Given the description of an element on the screen output the (x, y) to click on. 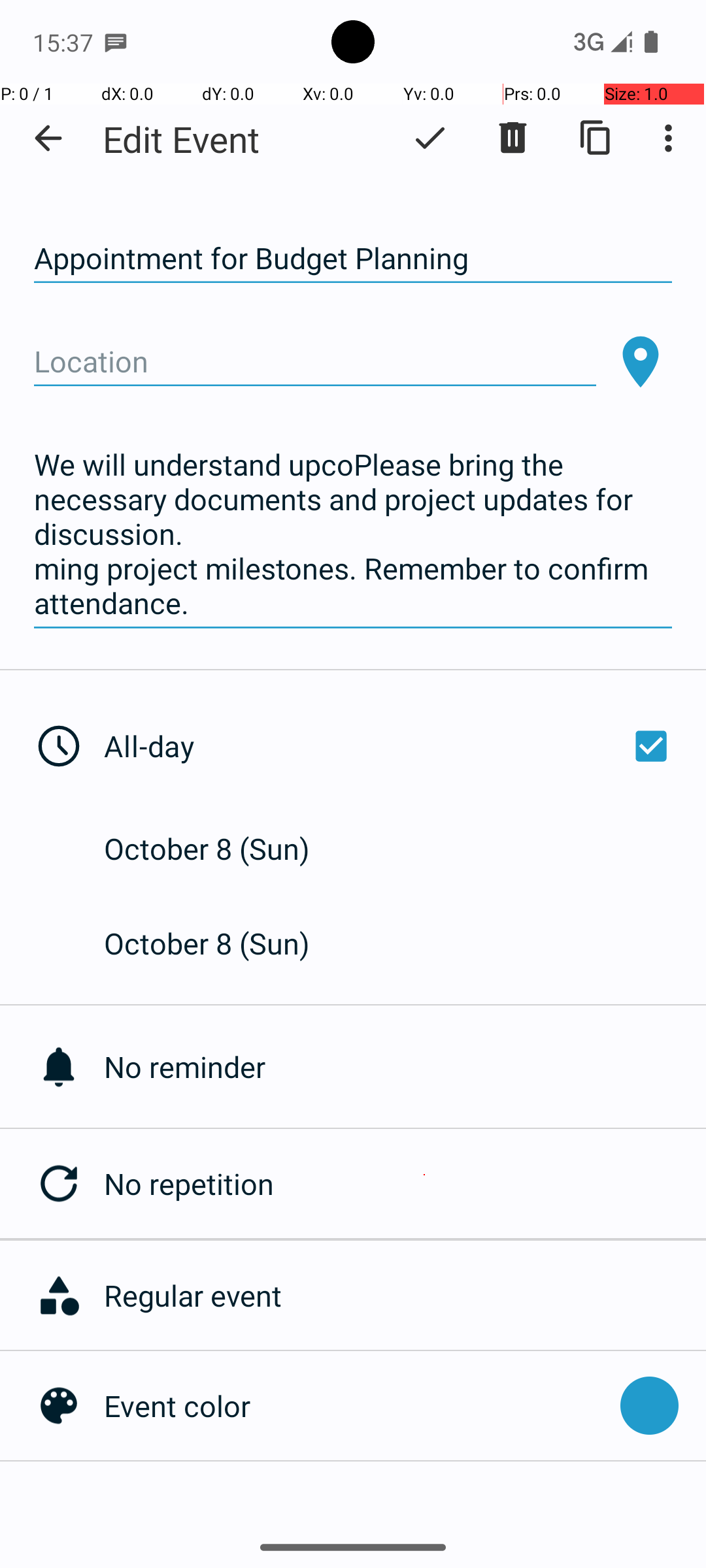
Edit Event Element type: android.widget.TextView (181, 138)
Duplicate event Element type: android.widget.Button (595, 137)
Appointment for Budget Planning Element type: android.widget.EditText (352, 258)
Location Element type: android.widget.EditText (314, 361)
We will understand upcoPlease bring the necessary documents and project updates for discussion.
ming project milestones. Remember to confirm attendance. Element type: android.widget.EditText (352, 534)
October 8 (Sun) Element type: android.widget.TextView (220, 847)
No reminder Element type: android.widget.TextView (404, 1066)
No repetition Element type: android.widget.TextView (404, 1183)
All-day Element type: android.widget.CheckBox (390, 745)
Regular event Element type: android.widget.TextView (397, 1295)
Event color Element type: android.widget.TextView (354, 1405)
15:37 Element type: android.widget.TextView (64, 41)
